Given the description of an element on the screen output the (x, y) to click on. 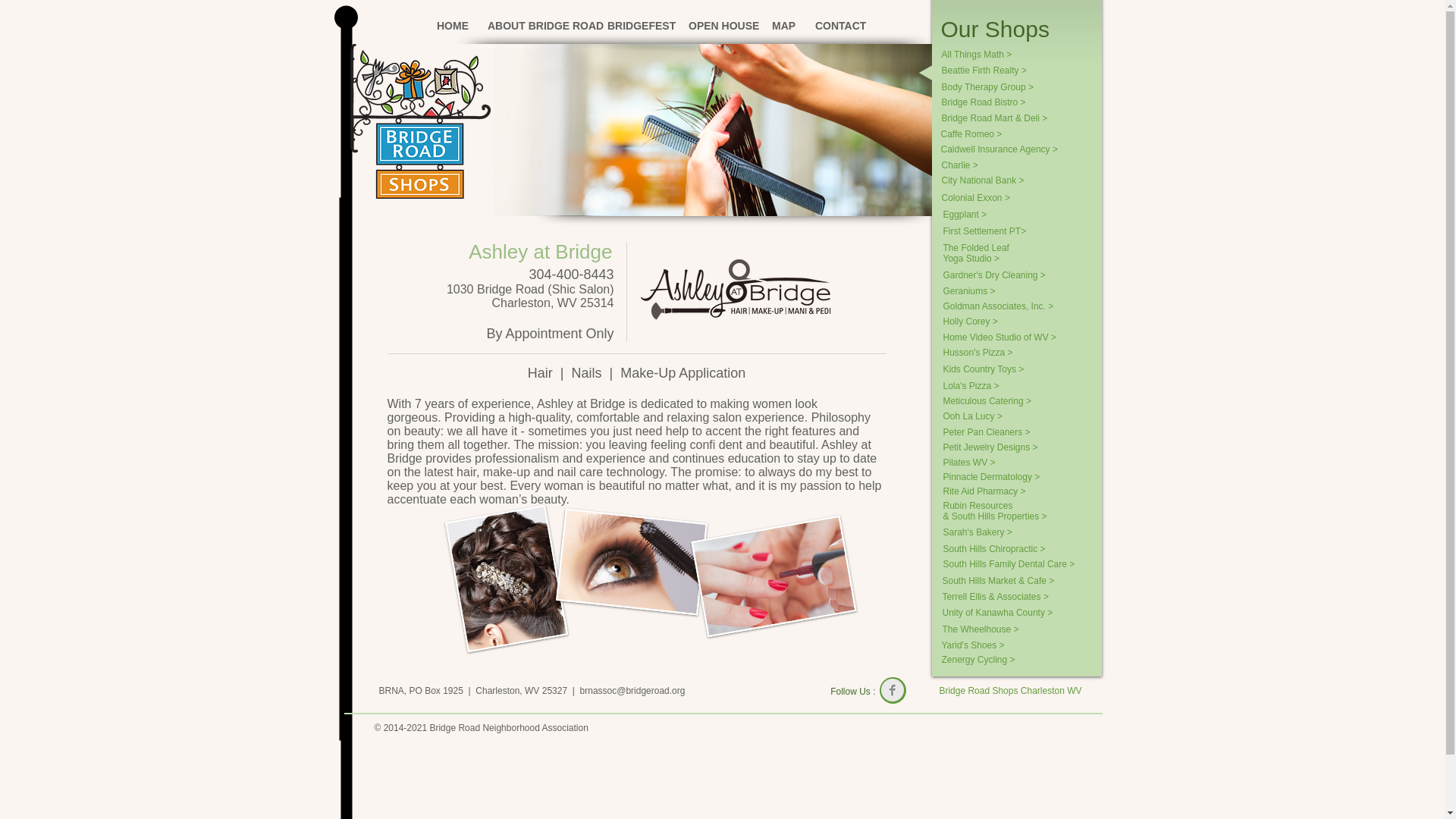
ABOUT BRIDGE ROAD (535, 25)
Ashley at Bridge (539, 251)
CONTACT (835, 25)
HOME (450, 25)
Rubin Resources (1008, 505)
The Folded Leaf (981, 247)
BRIDGEFEST (636, 25)
MAP (781, 25)
OPEN HOUSE (718, 25)
